Given the description of an element on the screen output the (x, y) to click on. 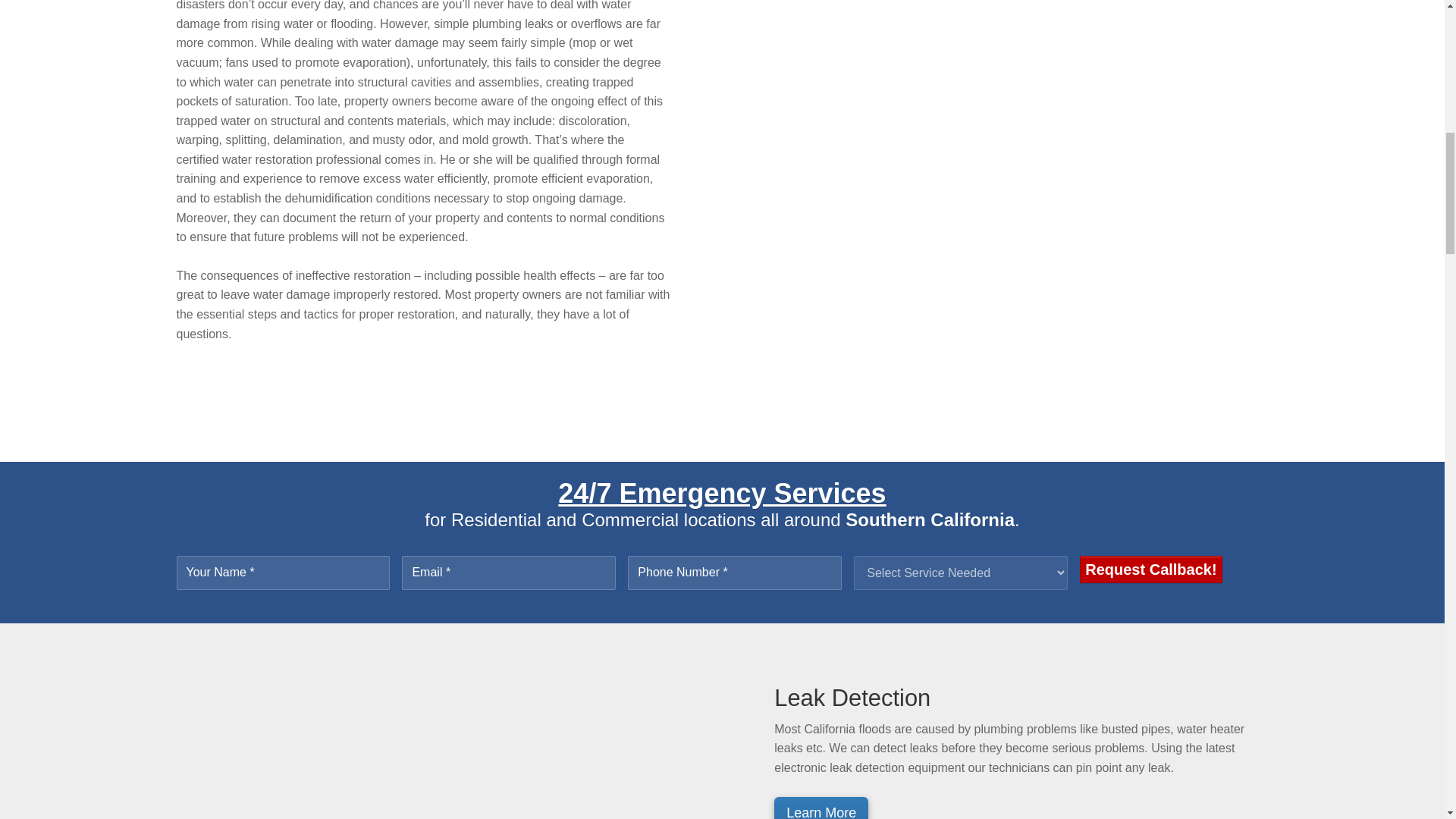
Request Callback! (1150, 569)
Learn More (820, 807)
Request Callback! (1150, 569)
Learn More (820, 807)
